Given the description of an element on the screen output the (x, y) to click on. 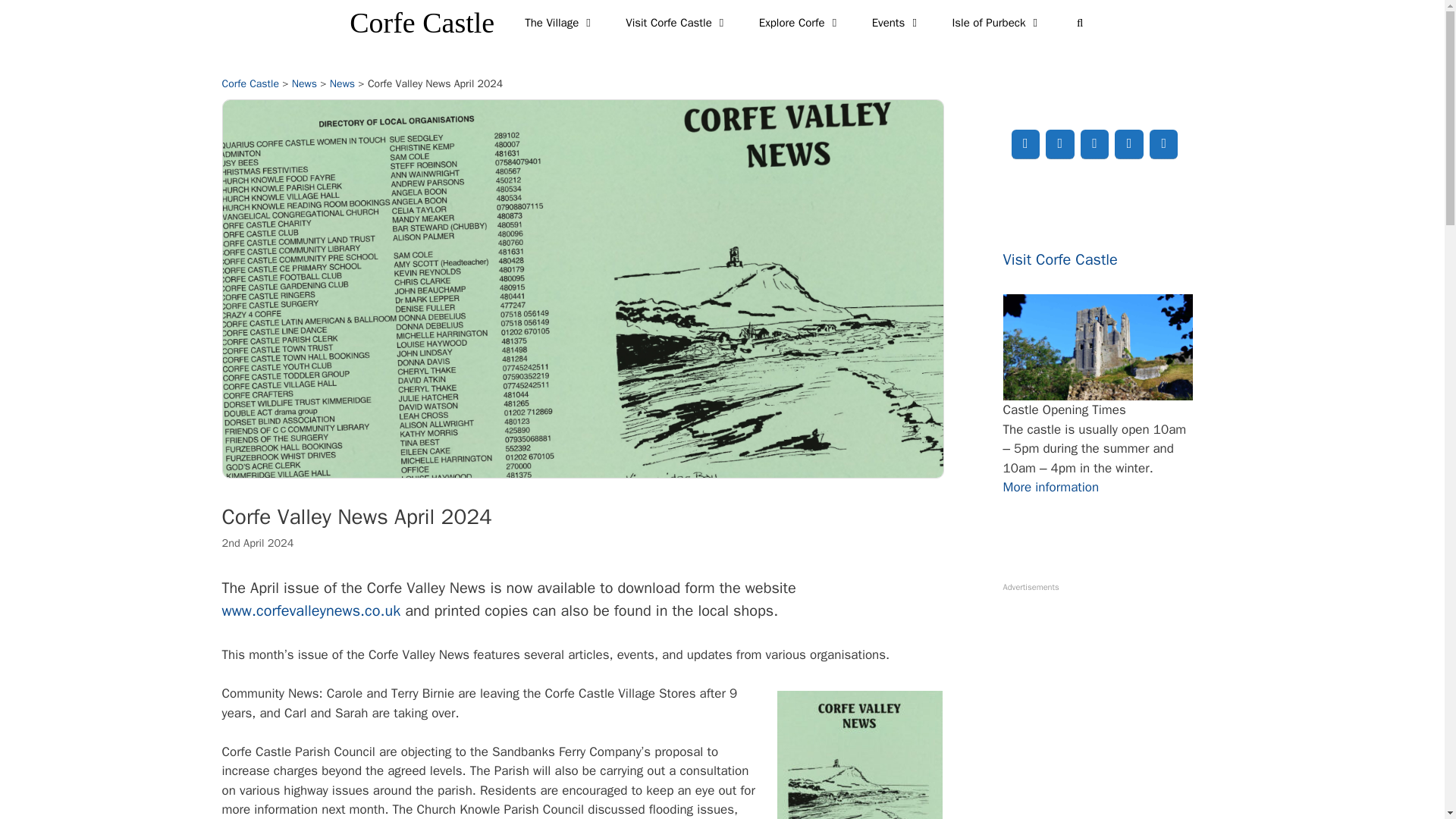
Go to the News Category archives. (342, 83)
Go to News. (304, 83)
Corfe Castle (422, 22)
Go to Corfe Castle. (249, 83)
The Village (559, 22)
Advertisement (1108, 705)
